Given the description of an element on the screen output the (x, y) to click on. 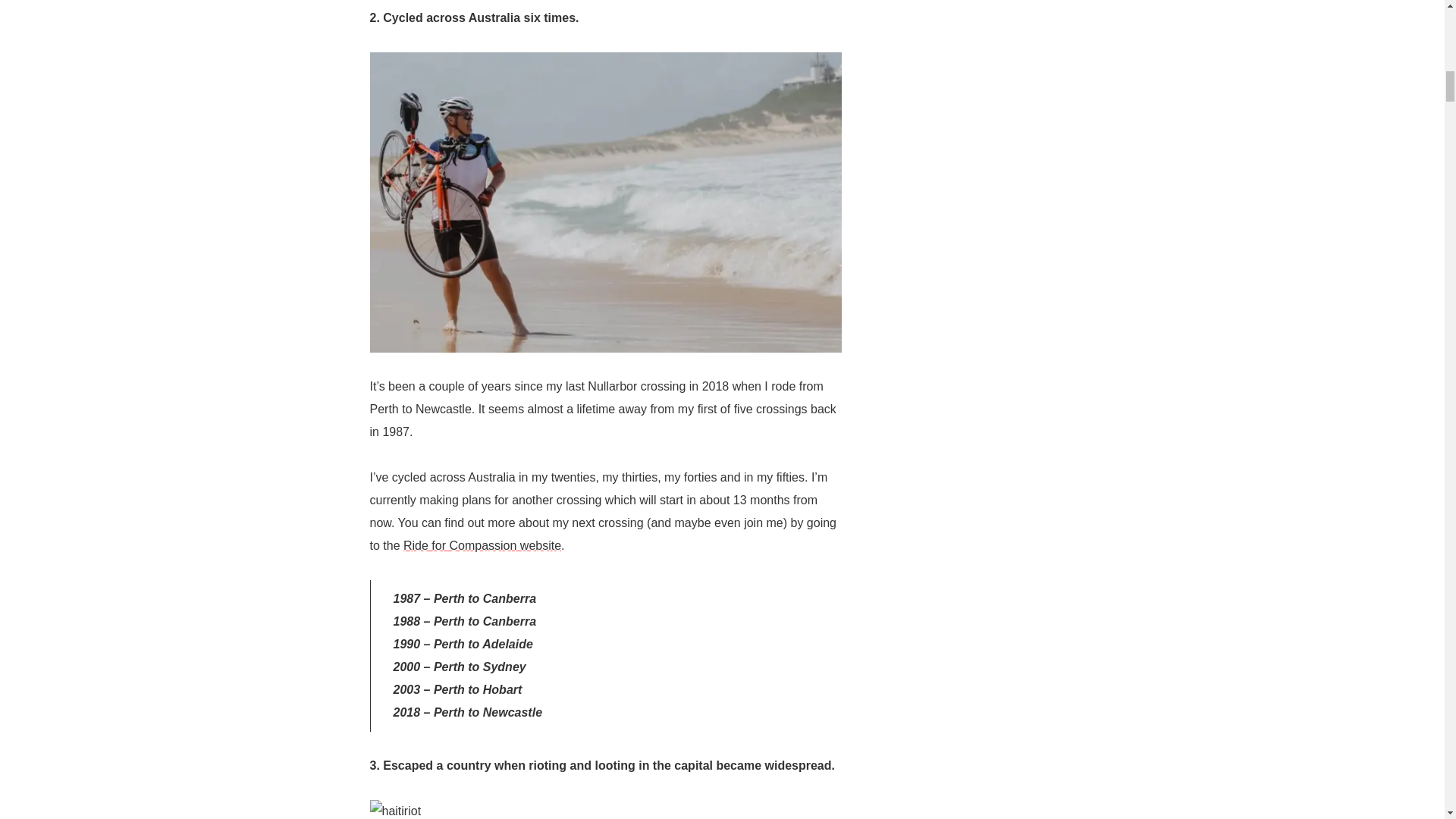
Ride for Compassion website (481, 545)
